Given the description of an element on the screen output the (x, y) to click on. 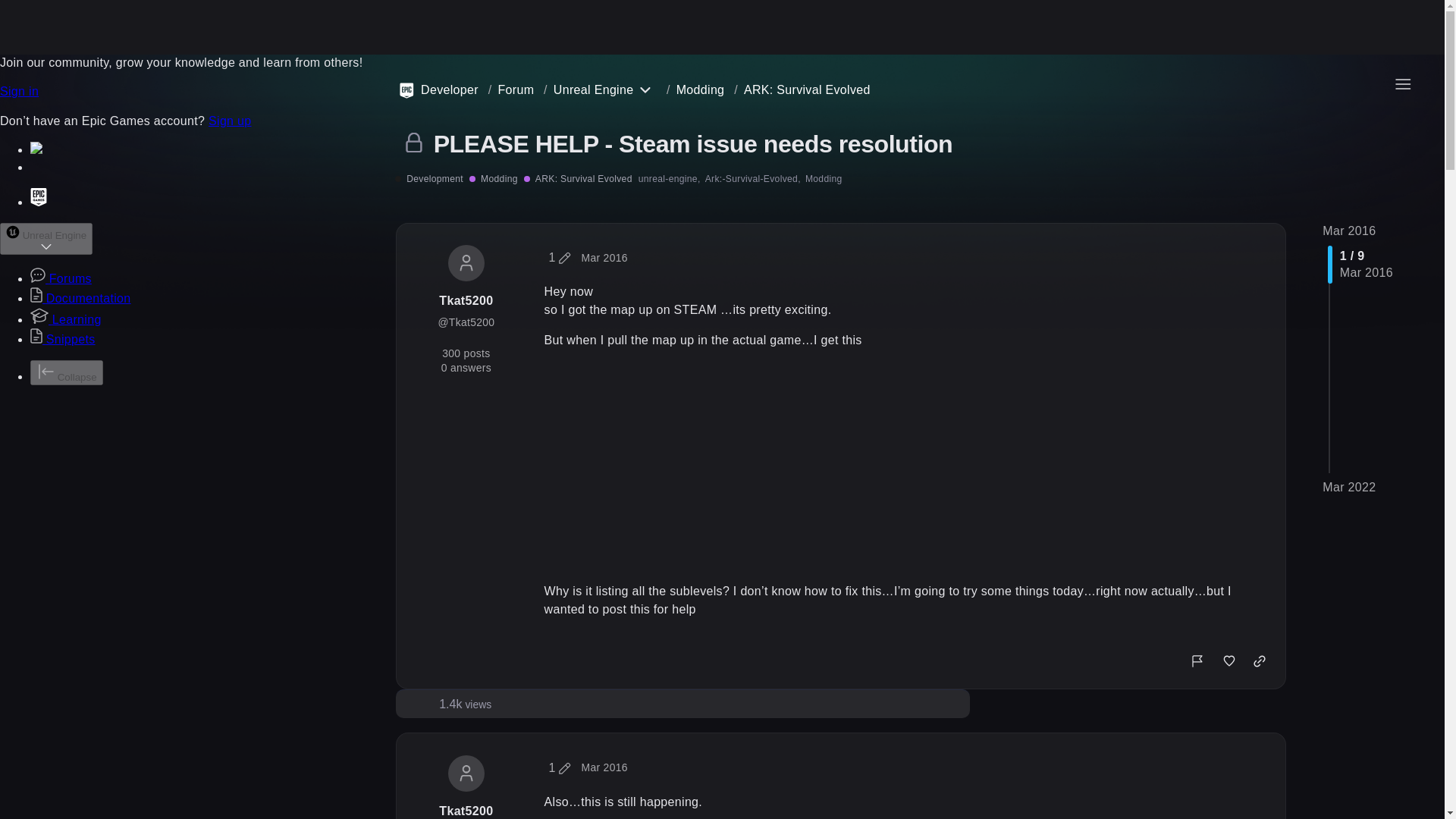
Mar 2016 (603, 257)
Mar 2016 (603, 767)
Modding (824, 178)
PLEASE HELP - Steam issue needs resolution (693, 144)
unreal-engine (669, 178)
Tkat5200 (466, 300)
ARK: Survival Evolved (807, 89)
Mar 2022 (1348, 487)
This topic is archived; it is frozen and cannot be changed (408, 142)
ARK: Survival Evolved (577, 178)
